Given the description of an element on the screen output the (x, y) to click on. 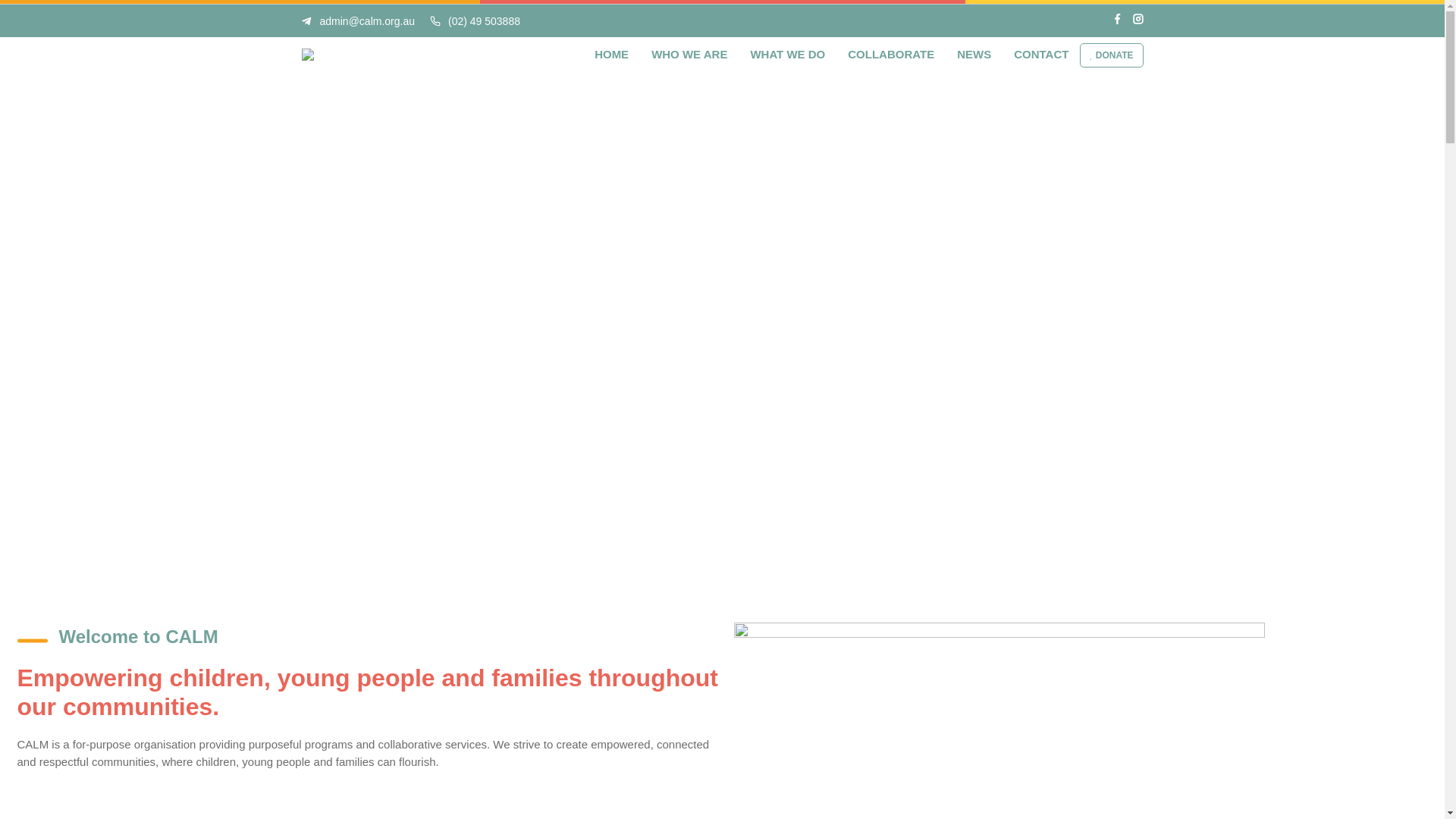
(02) 49 503888 Element type: text (474, 20)
WHAT WE DO Element type: text (787, 54)
WHO WE ARE Element type: text (689, 54)
DONATE Element type: text (1111, 54)
admin@calm.org.au Element type: text (358, 20)
NEWS Element type: text (974, 54)
COLLABORATE Element type: text (890, 54)
HOME Element type: text (611, 54)
CONTACT Element type: text (1040, 54)
